Given the description of an element on the screen output the (x, y) to click on. 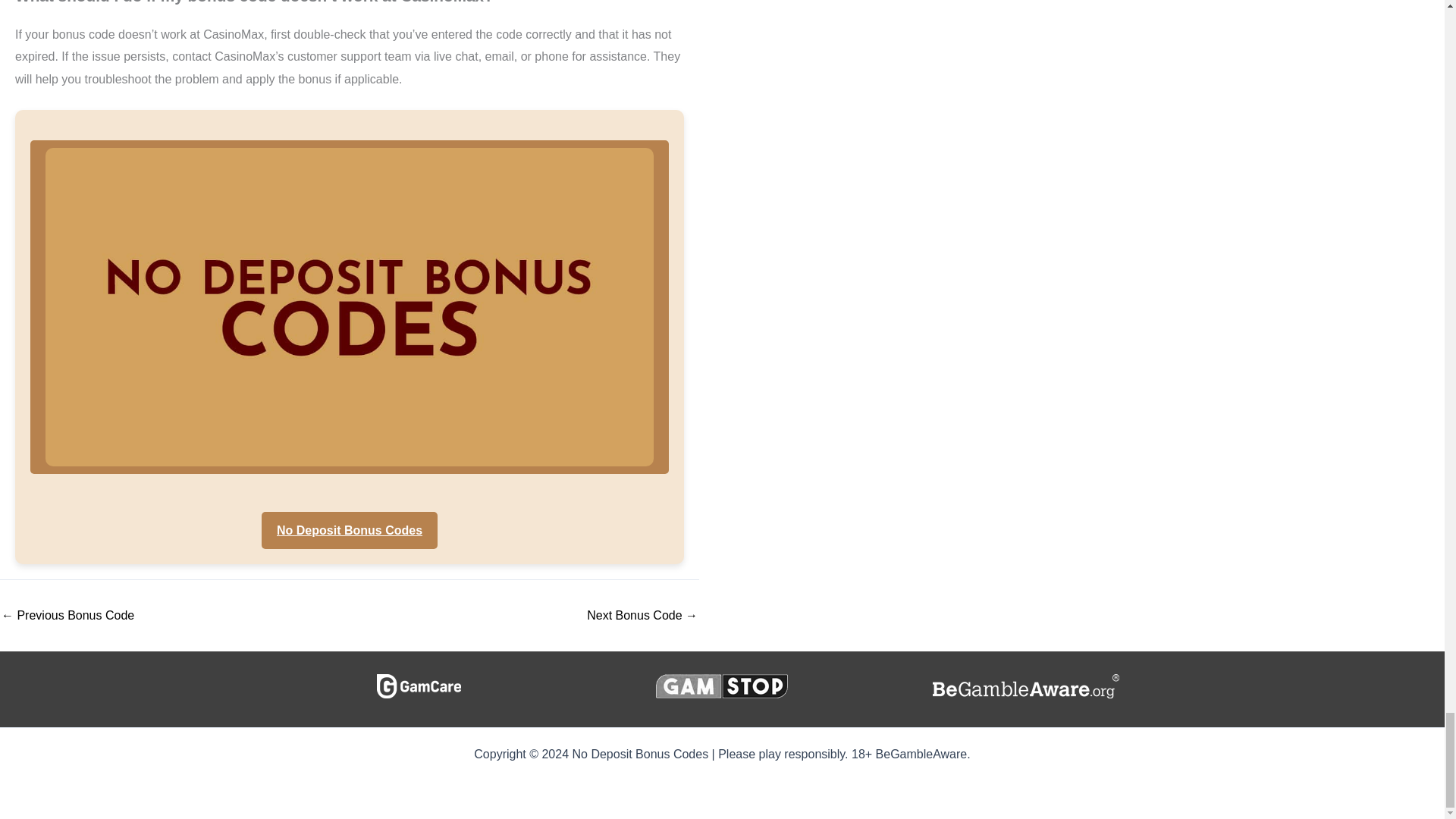
Royal Valley Casino (641, 615)
Betfred Casino (67, 615)
